Given the description of an element on the screen output the (x, y) to click on. 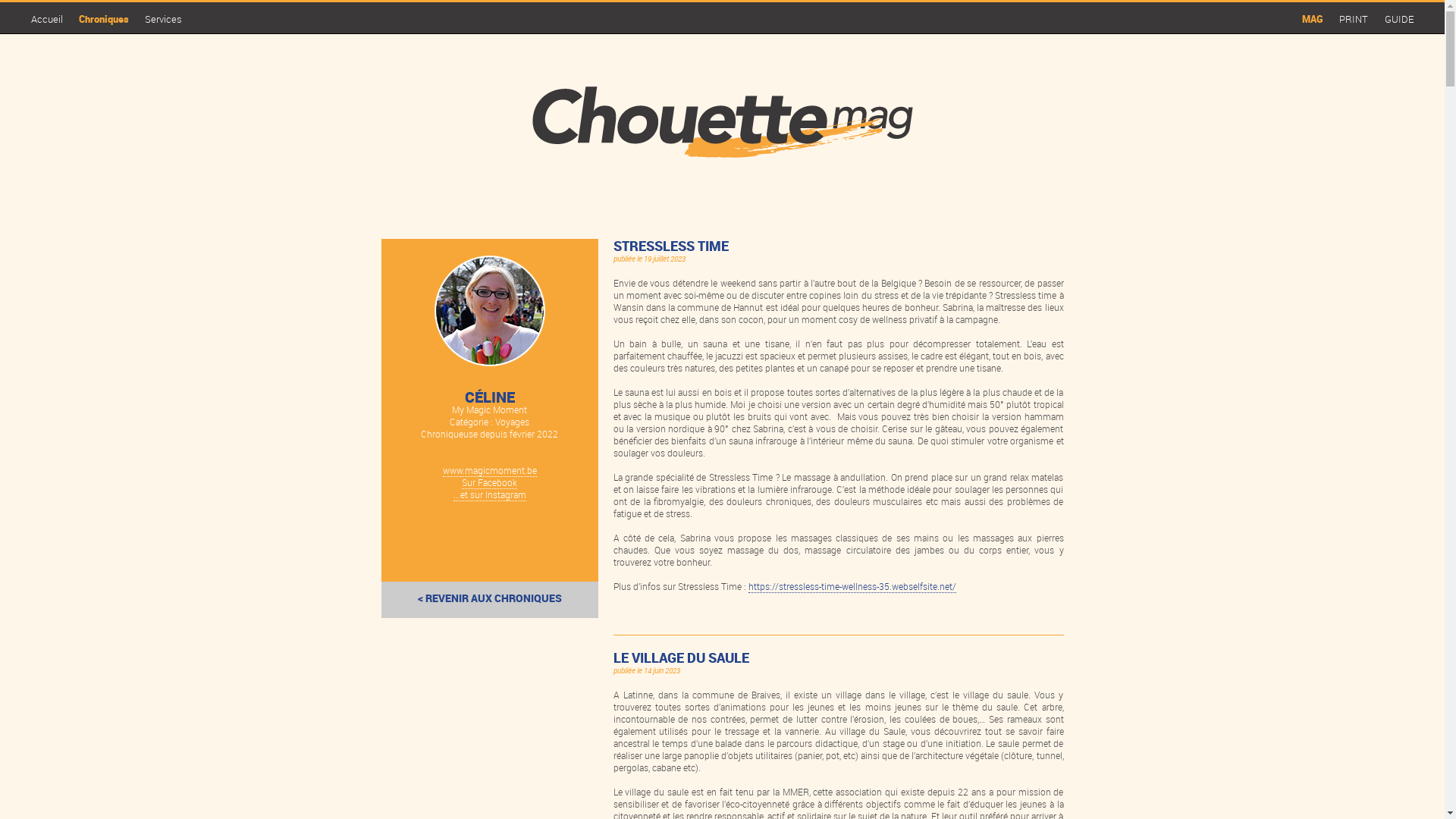
Accueil Element type: text (46, 18)
GUIDE Element type: text (1398, 18)
...et sur Instagram Element type: text (489, 494)
Services Element type: text (163, 18)
< REVENIR AUX CHRONIQUES Element type: text (488, 599)
www.magicmoment.be Element type: text (489, 470)
PRINT Element type: text (1353, 18)
https://stressless-time-wellness-35.webselfsite.net/ Element type: text (851, 586)
Sur Facebook Element type: text (489, 482)
